Given the description of an element on the screen output the (x, y) to click on. 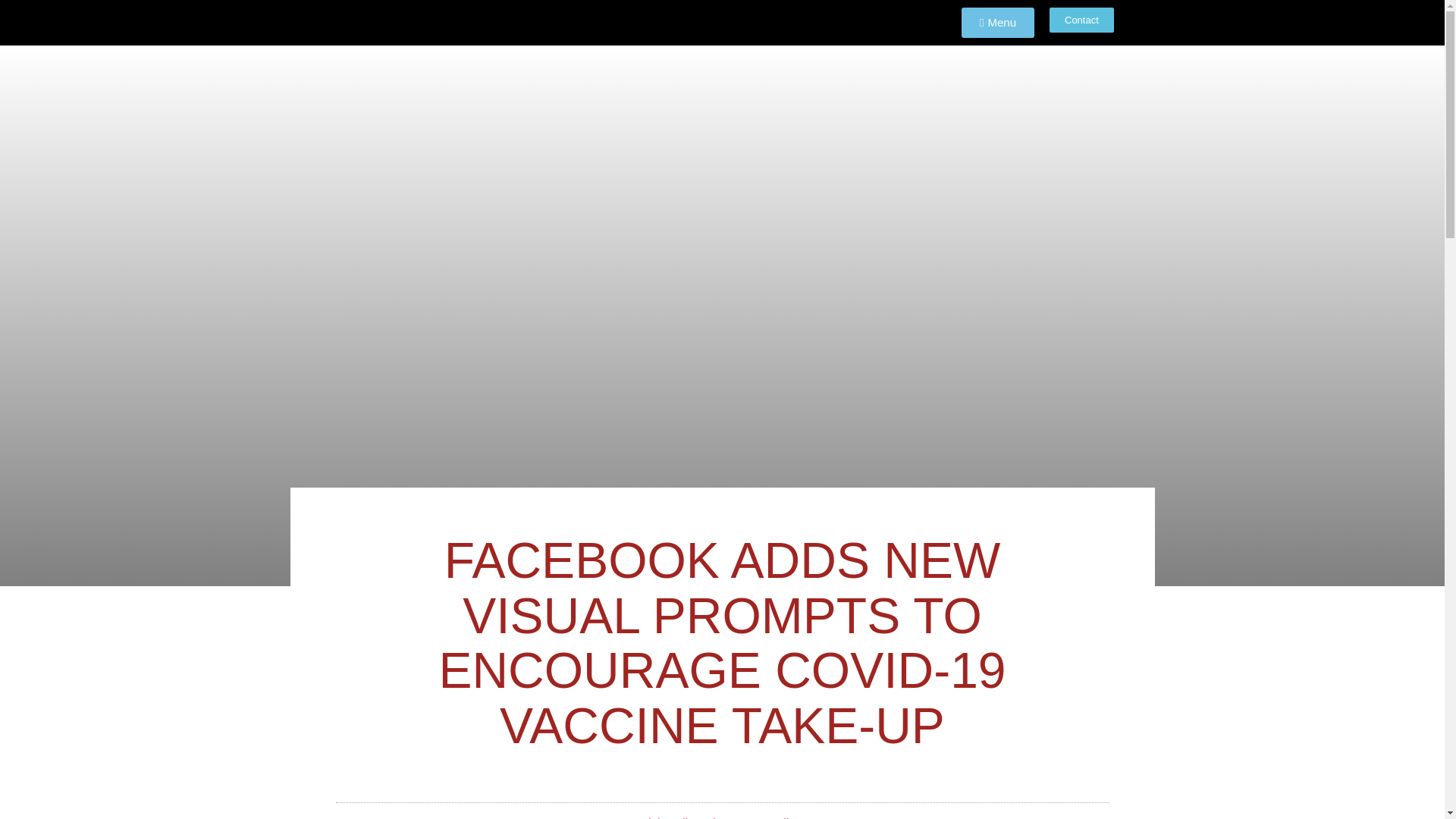
April 2, 2021 (790, 816)
Contact (1081, 19)
Menu (996, 22)
Social Media Today (670, 816)
